Given the description of an element on the screen output the (x, y) to click on. 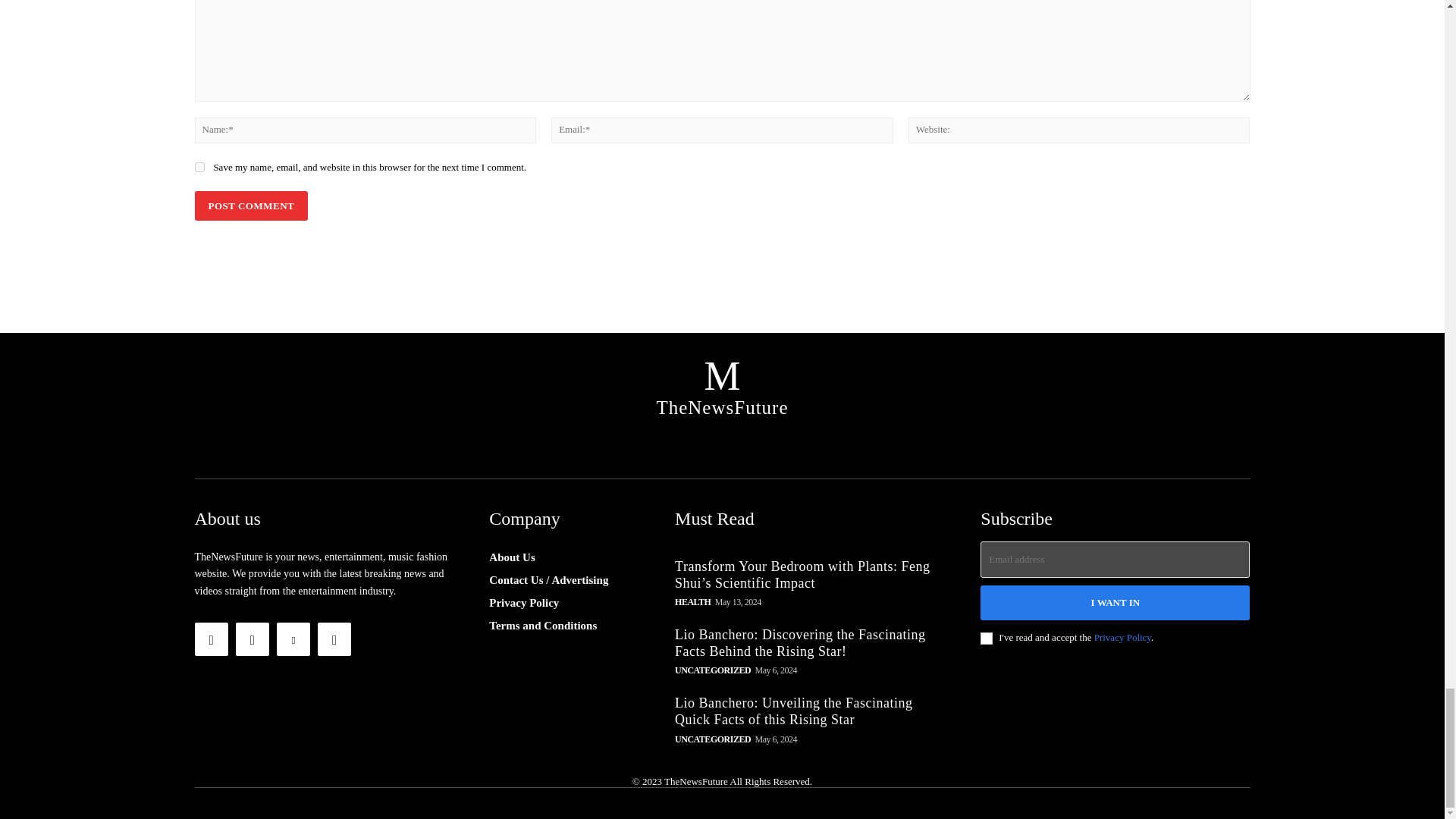
yes (198, 166)
Post Comment (250, 205)
